Given the description of an element on the screen output the (x, y) to click on. 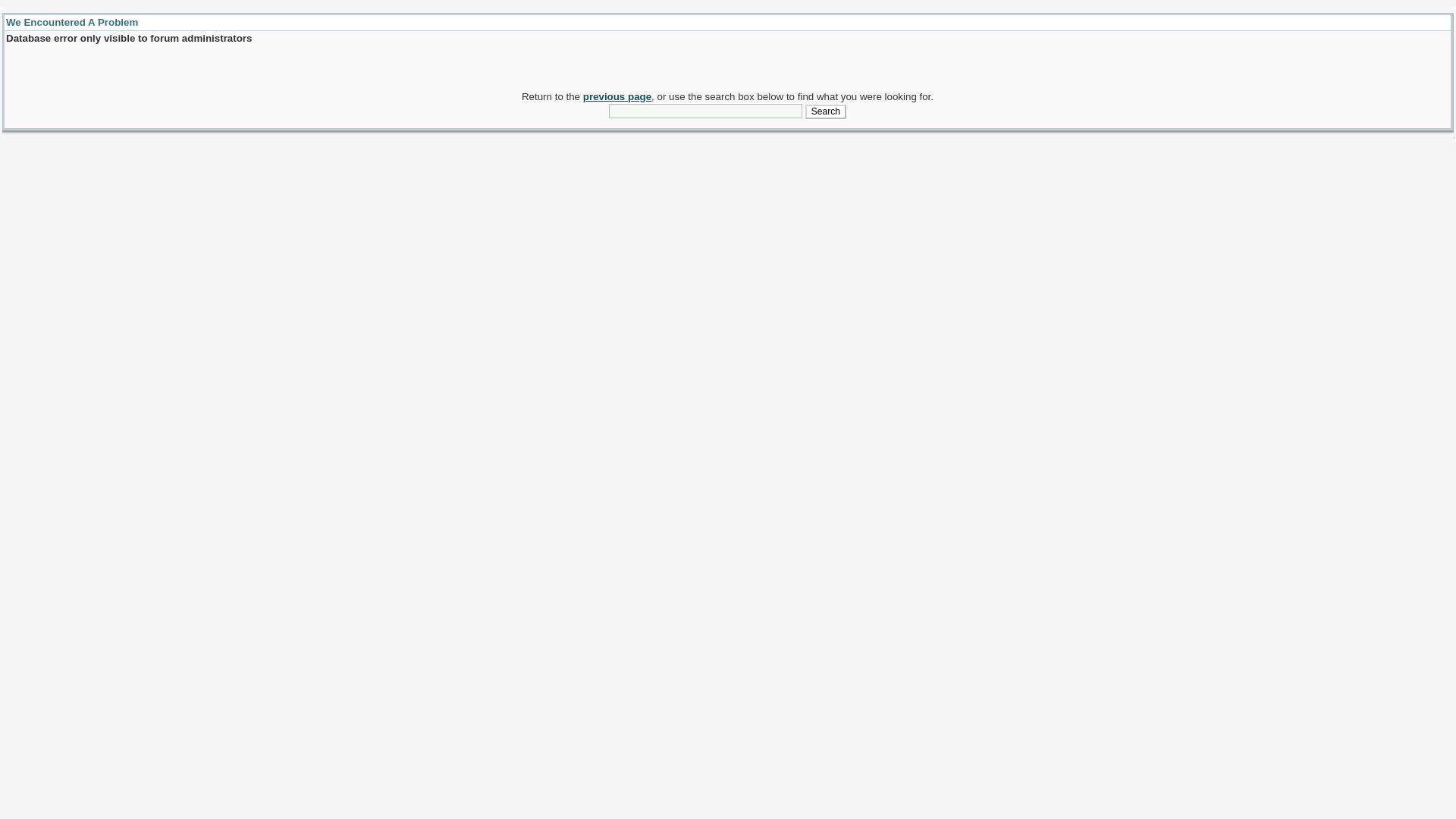
Search (825, 111)
previous page (616, 96)
Search (825, 111)
